Given the description of an element on the screen output the (x, y) to click on. 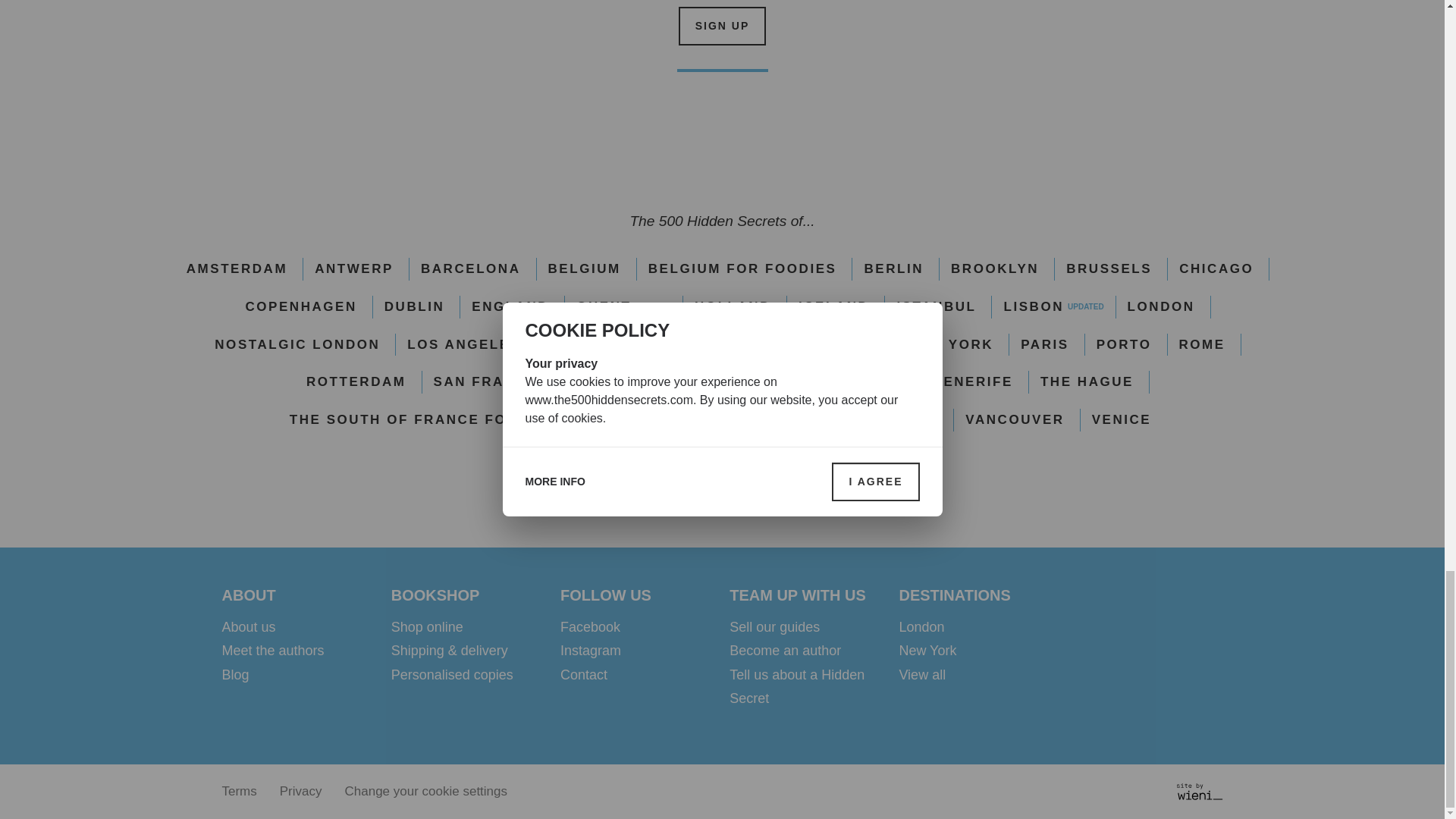
SIGN UP (722, 25)
